Given the description of an element on the screen output the (x, y) to click on. 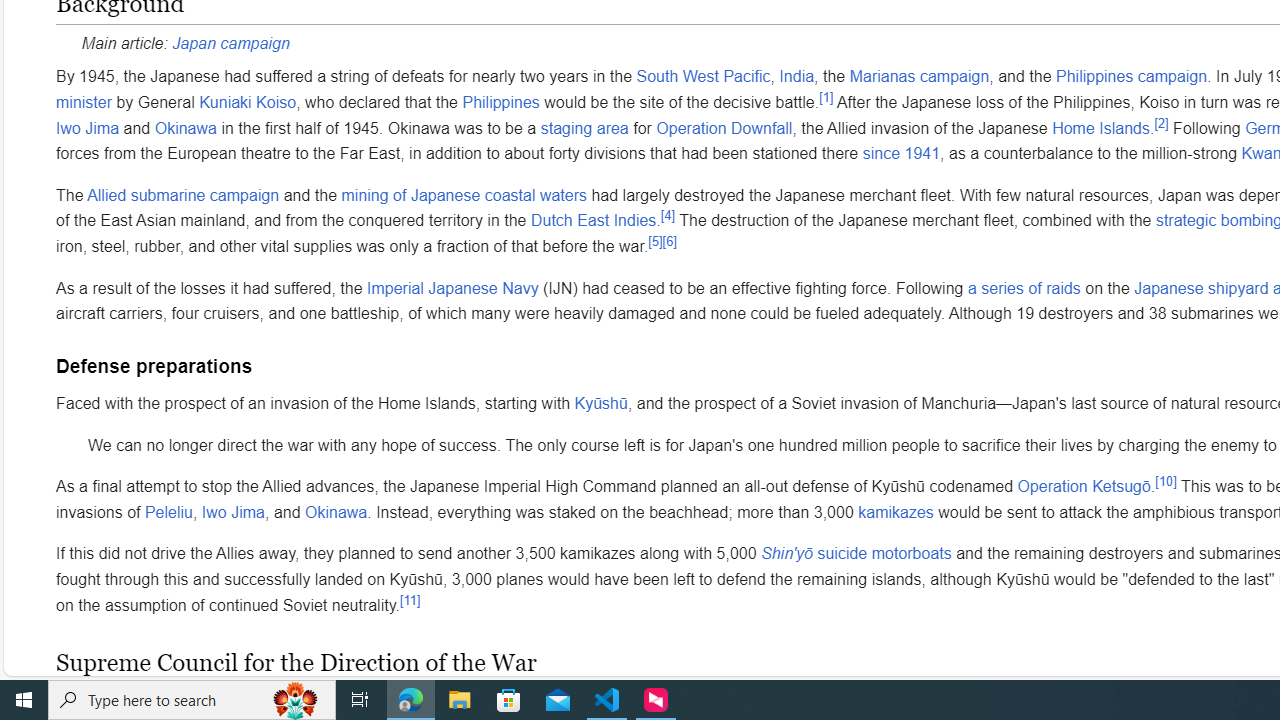
South West Pacific (703, 76)
[10] (1165, 480)
a series of raids (1023, 287)
Allied submarine campaign (183, 194)
Philippines campaign (1132, 76)
Imperial Japanese Navy (452, 287)
[5] (655, 241)
[1] (826, 97)
Peleliu (168, 512)
Dutch East Indies (592, 220)
India (797, 76)
staging area (584, 127)
Philippines (501, 101)
Marianas campaign (918, 76)
